Given the description of an element on the screen output the (x, y) to click on. 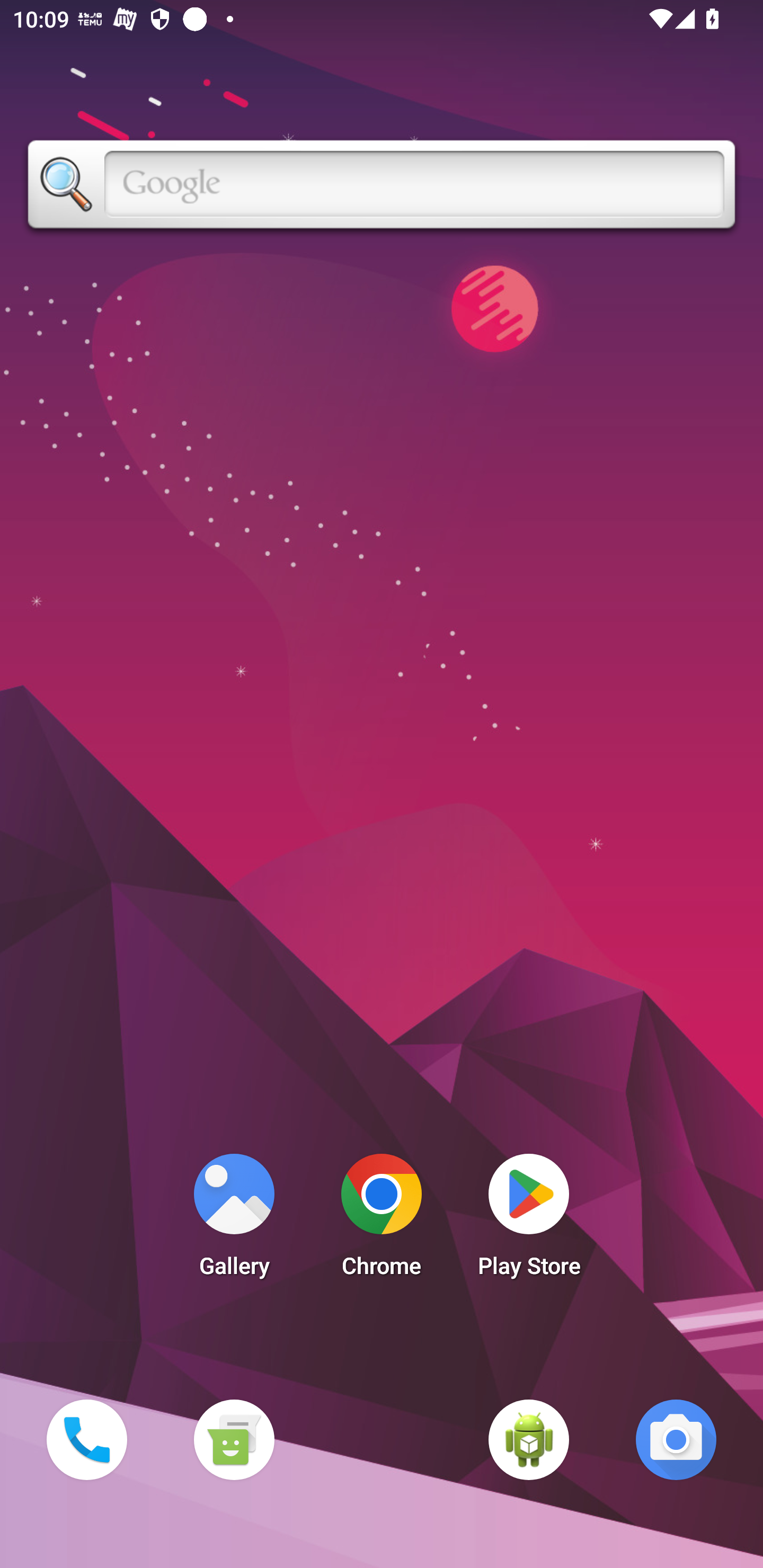
Gallery (233, 1220)
Chrome (381, 1220)
Play Store (528, 1220)
Phone (86, 1439)
Messaging (233, 1439)
WebView Browser Tester (528, 1439)
Camera (676, 1439)
